Given the description of an element on the screen output the (x, y) to click on. 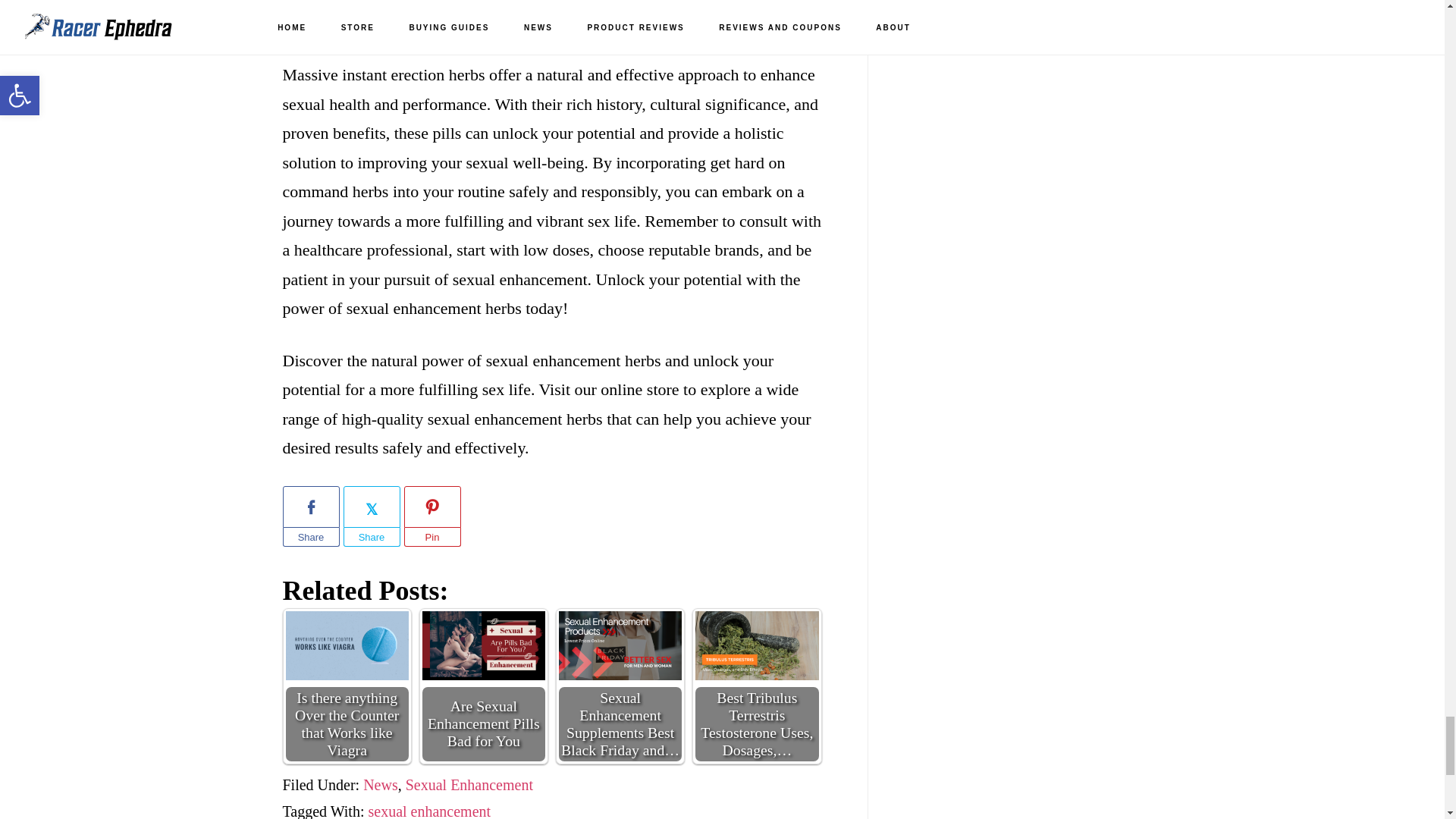
Are Sexual Enhancement Pills Bad for You (483, 645)
Is there anything Over the Counter that Works like Viagra (346, 645)
